Given the description of an element on the screen output the (x, y) to click on. 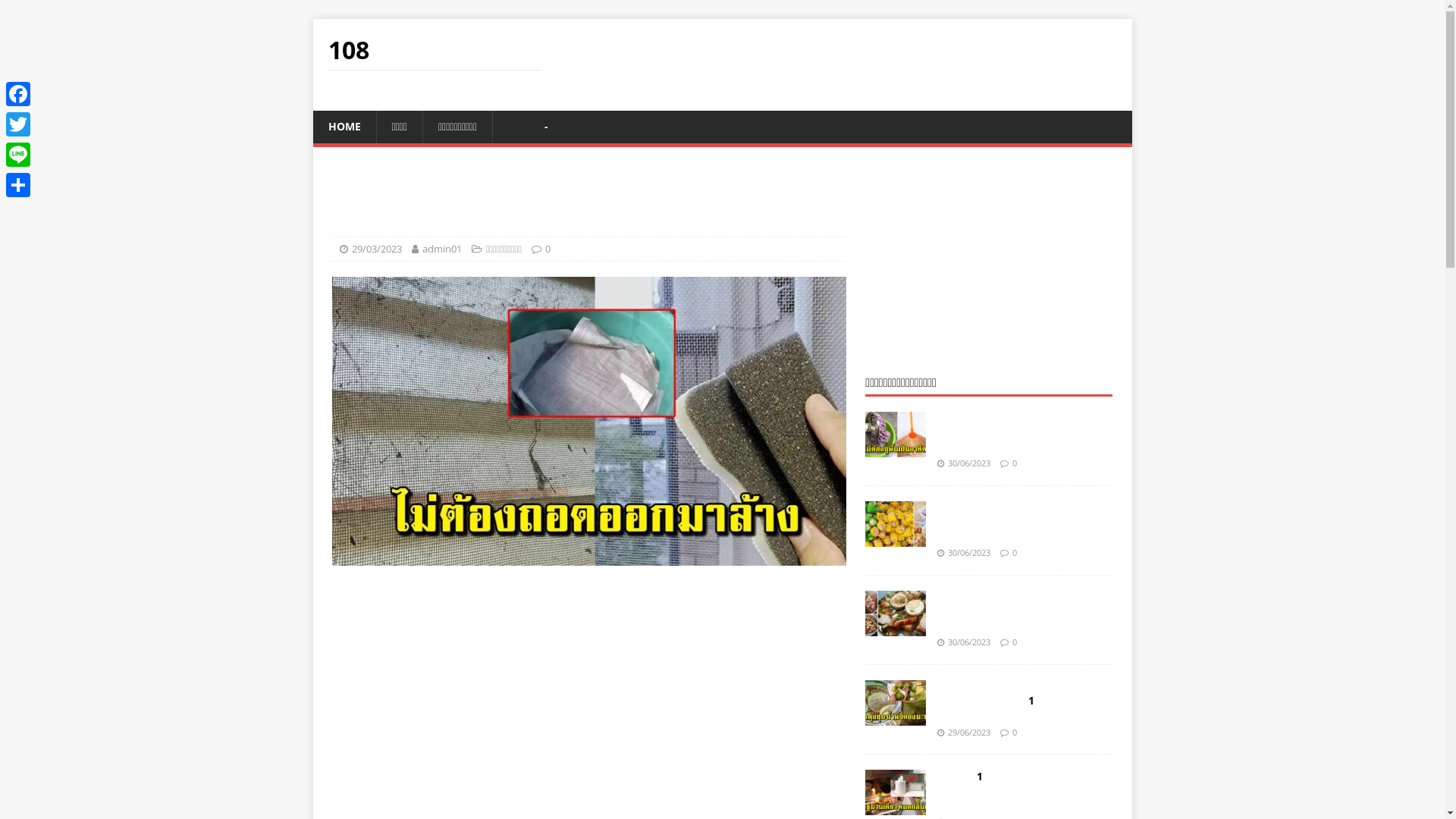
29/03/2023 Element type: text (376, 248)
admin01 Element type: text (441, 248)
0 Element type: text (1014, 552)
41852-fea Element type: hover (589, 420)
0 Element type: text (547, 248)
0 Element type: text (1014, 462)
Share Element type: text (18, 184)
Facebook Element type: text (18, 93)
Line Element type: text (18, 154)
0 Element type: text (1014, 731)
0 Element type: text (1014, 641)
HOME Element type: text (343, 126)
Advertisement Element type: hover (988, 260)
Twitter Element type: text (18, 124)
